Given the description of an element on the screen output the (x, y) to click on. 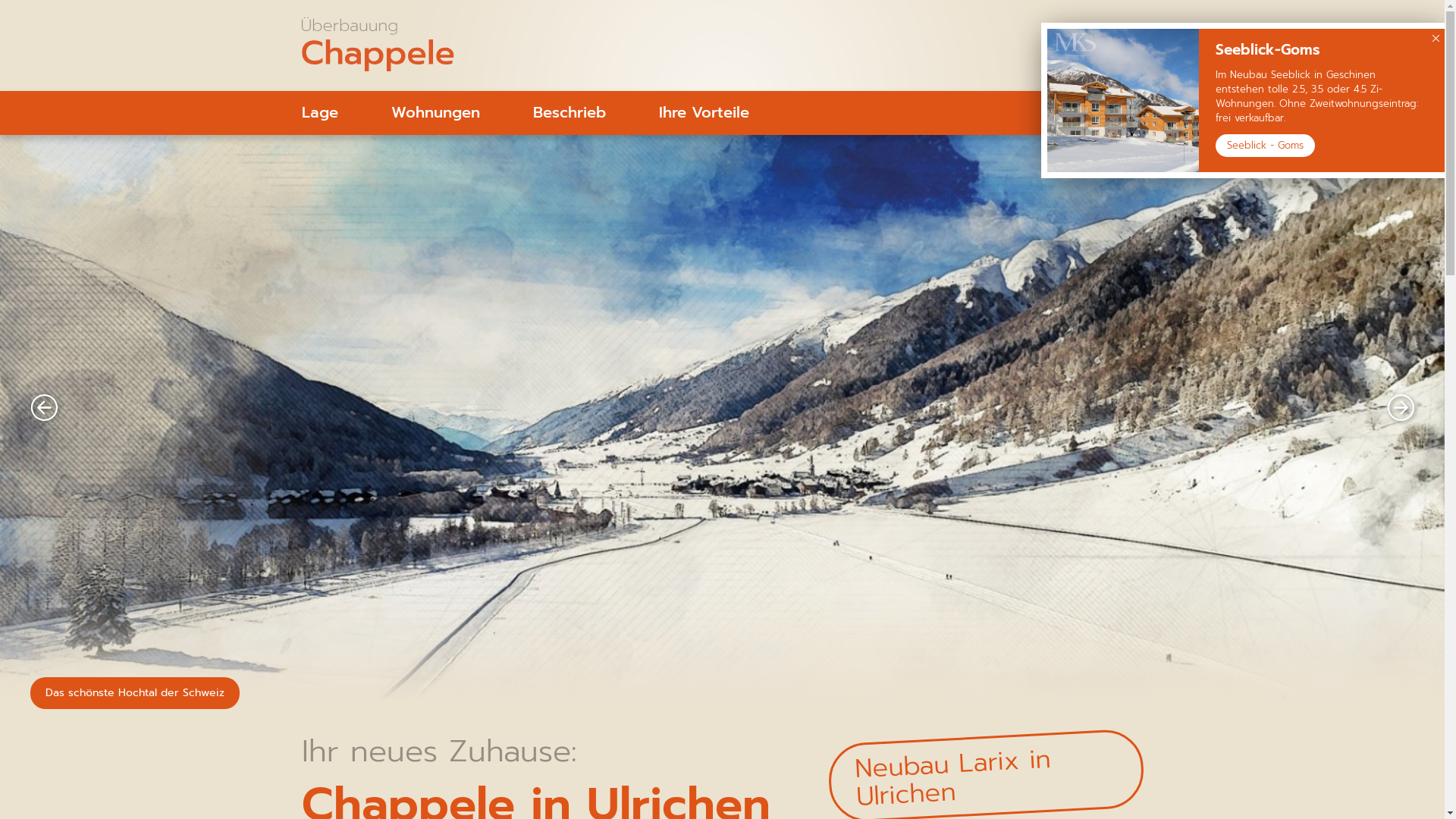
Neubau Larix in Ulrichen Element type: text (950, 772)
Seeblick - Goms Element type: text (1264, 145)
Beschrieb Element type: text (569, 112)
Lage Element type: text (319, 112)
Kontakt Element type: text (1114, 112)
Next Element type: text (1400, 421)
Wohnungen Element type: text (434, 112)
Ihre Vorteile Element type: text (703, 112)
Seeblick-Goms Element type: text (1267, 49)
Prev Element type: text (43, 421)
